Given the description of an element on the screen output the (x, y) to click on. 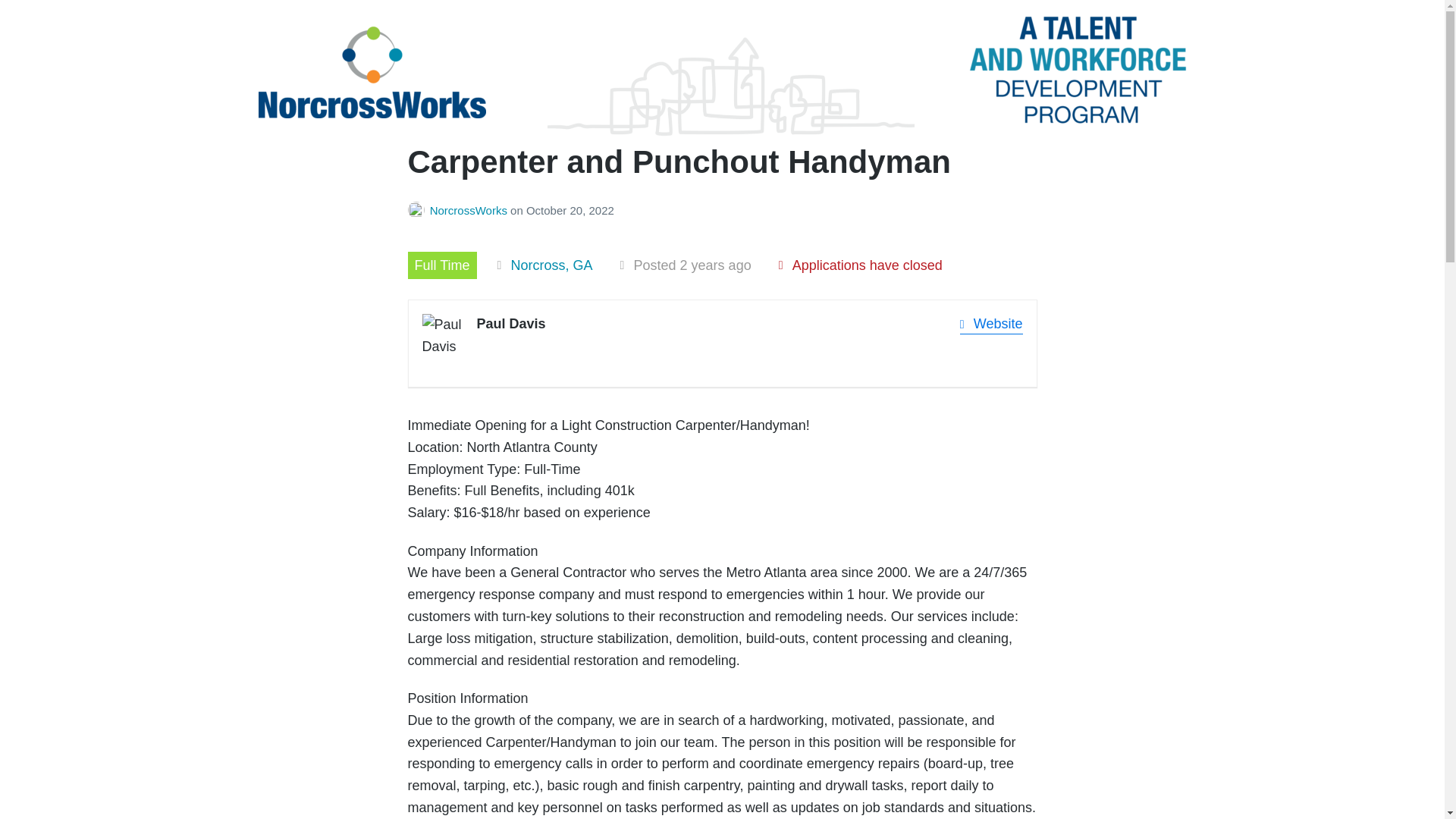
Website (991, 323)
NorcrossWorks (470, 210)
Norcross, GA (551, 264)
Posts by NorcrossWorks (418, 210)
